Given the description of an element on the screen output the (x, y) to click on. 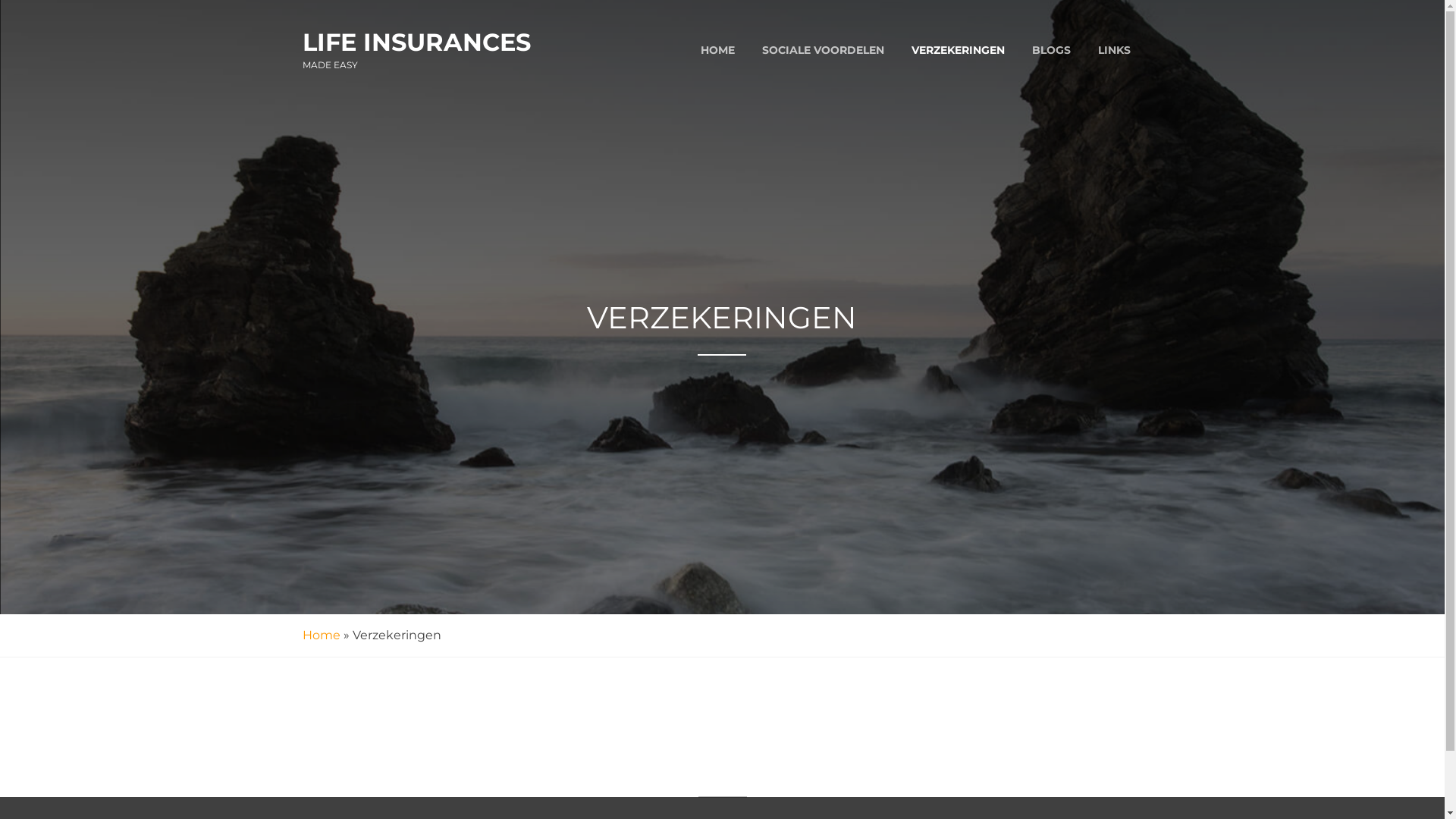
SOCIALE VOORDELEN Element type: text (822, 50)
HOME Element type: text (717, 50)
LINKS Element type: text (1113, 50)
BLOGS Element type: text (1050, 50)
VERZEKERINGEN Element type: text (957, 50)
Home Element type: text (320, 634)
LIFE INSURANCES Element type: text (415, 41)
